Given the description of an element on the screen output the (x, y) to click on. 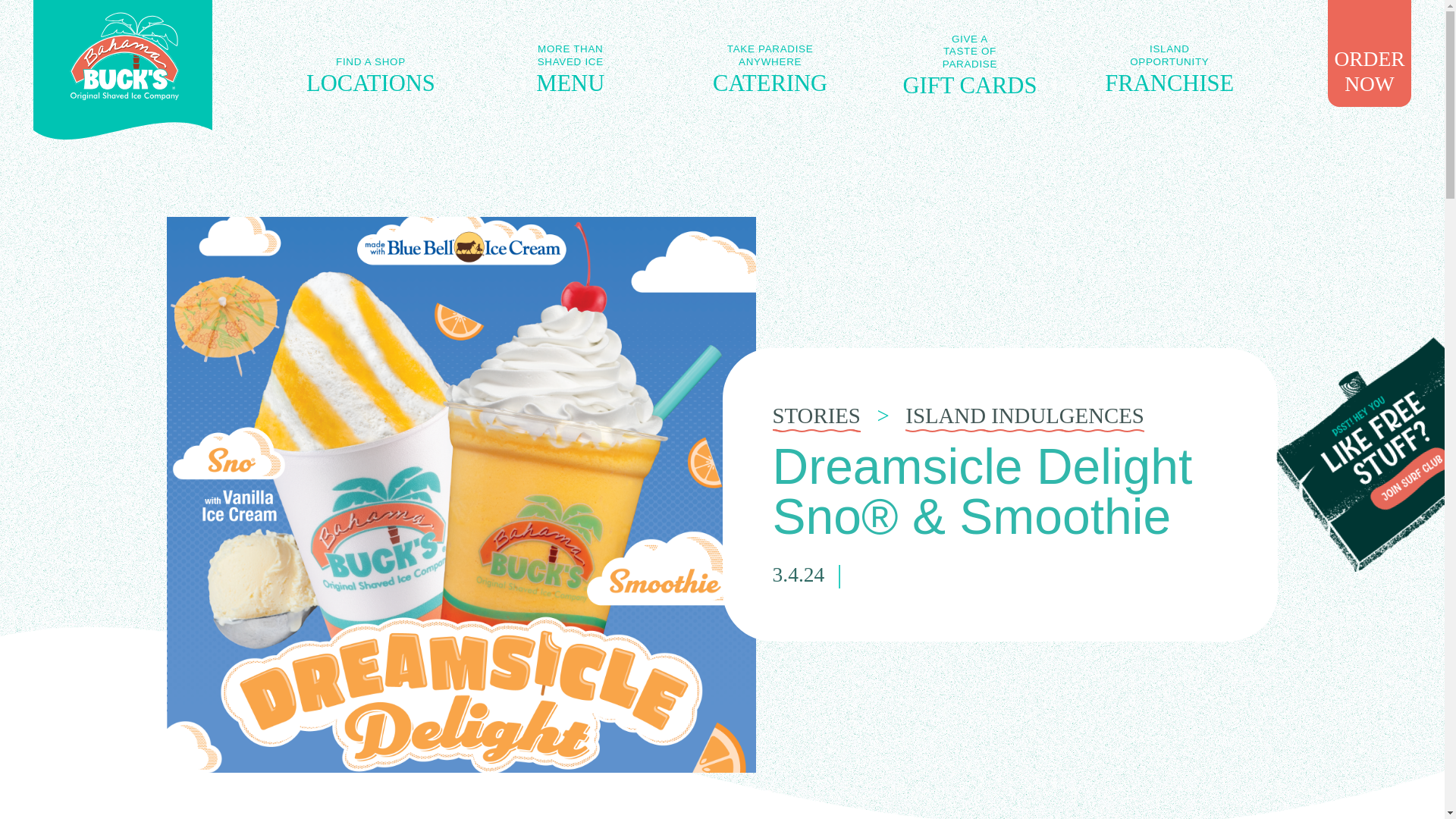
ISLAND INDULGENCES (370, 66)
STORIES (969, 66)
